Given the description of an element on the screen output the (x, y) to click on. 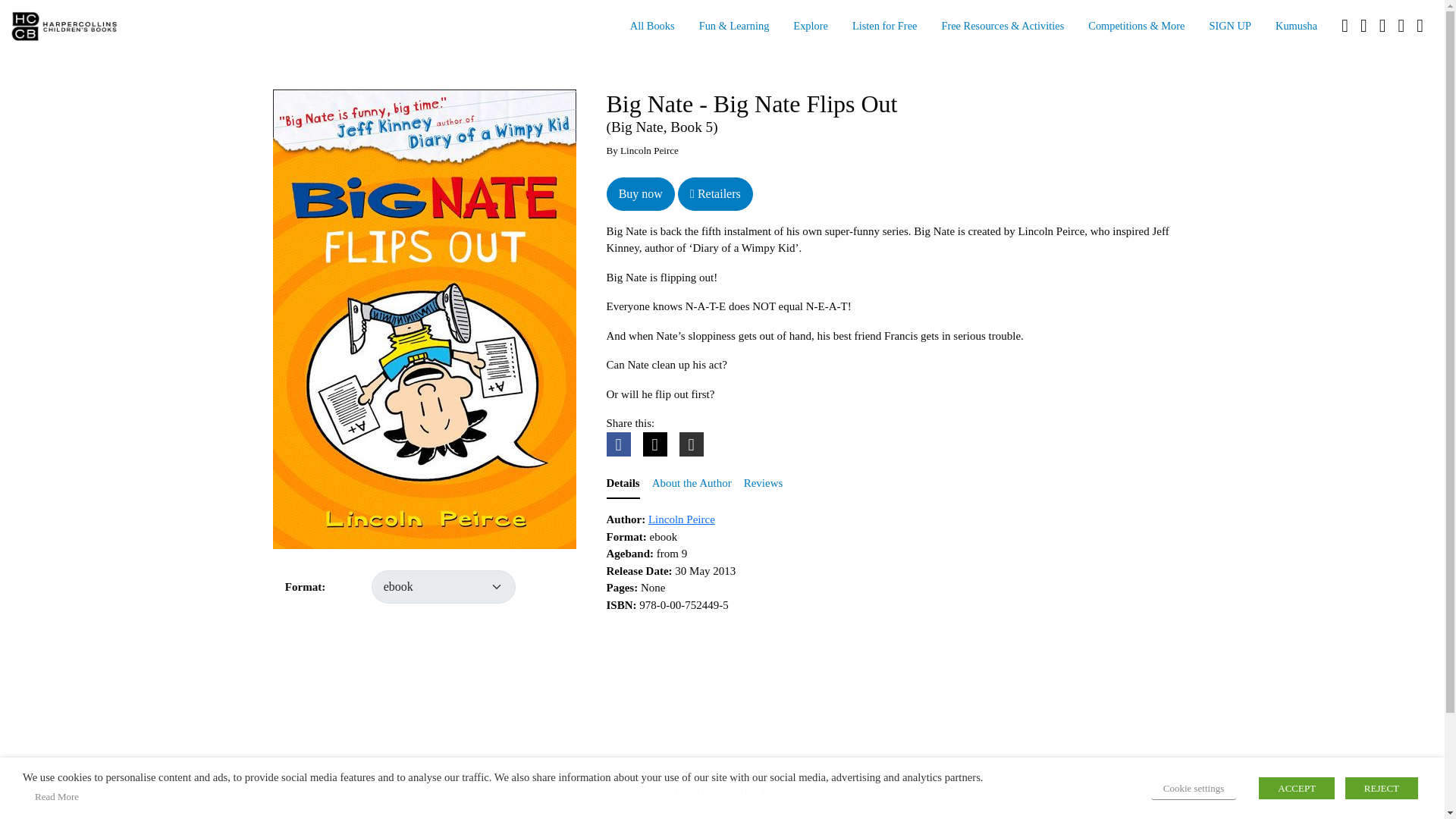
facebook (678, 793)
SIGN UP (1229, 26)
Listen for Free (885, 26)
facebook (1344, 27)
Lincoln Peirce (680, 519)
instagram (700, 793)
Buy now (641, 193)
Kumusha (1296, 26)
Reviews (763, 483)
soundcloud (1382, 27)
All Books (652, 26)
Explore (810, 26)
Details (623, 483)
instagram (1363, 27)
Retailers (715, 193)
